Given the description of an element on the screen output the (x, y) to click on. 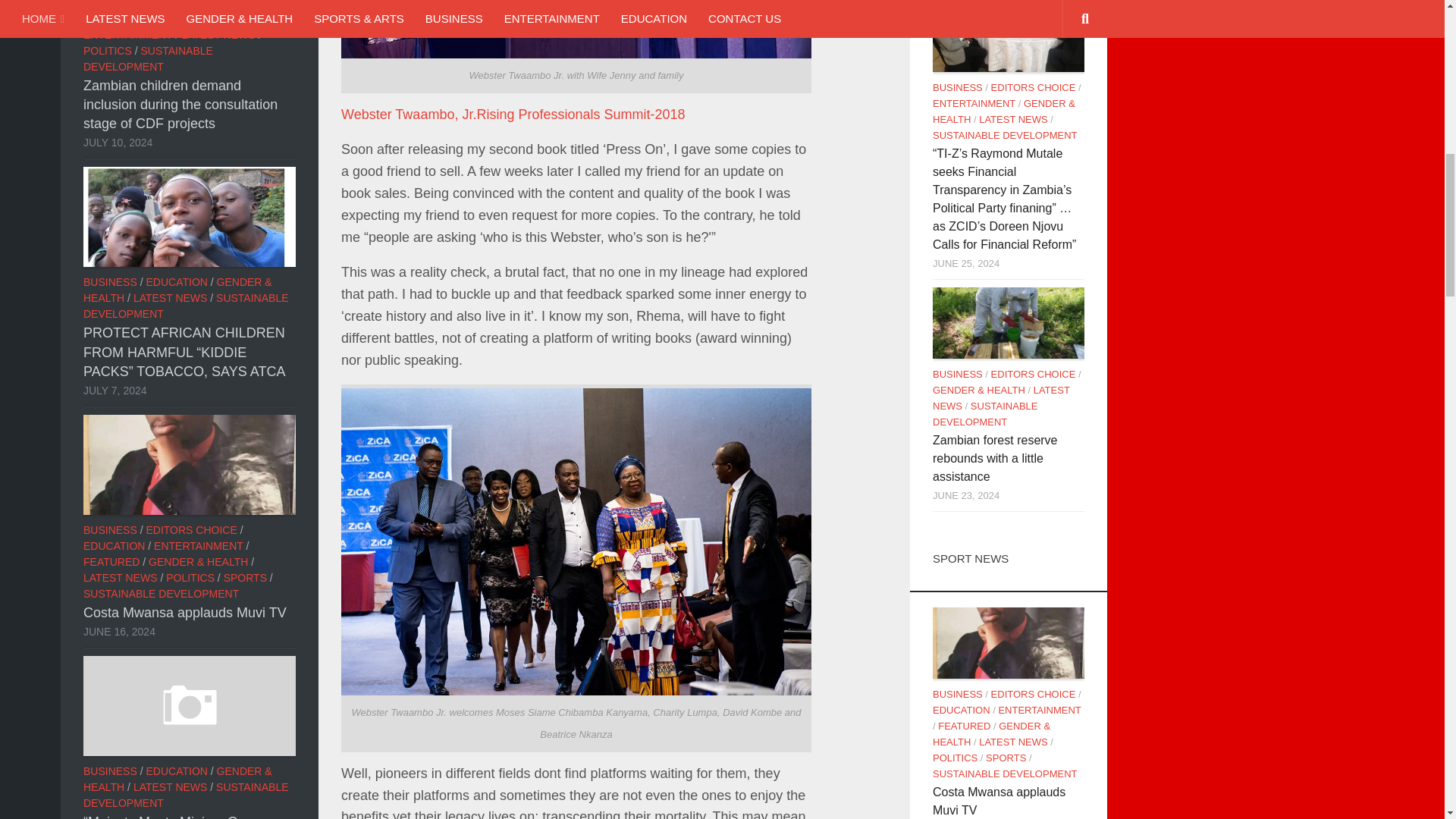
Rising Professionals Summit-2018 (580, 114)
Webster Twaambo, Jr. (408, 114)
